Given the description of an element on the screen output the (x, y) to click on. 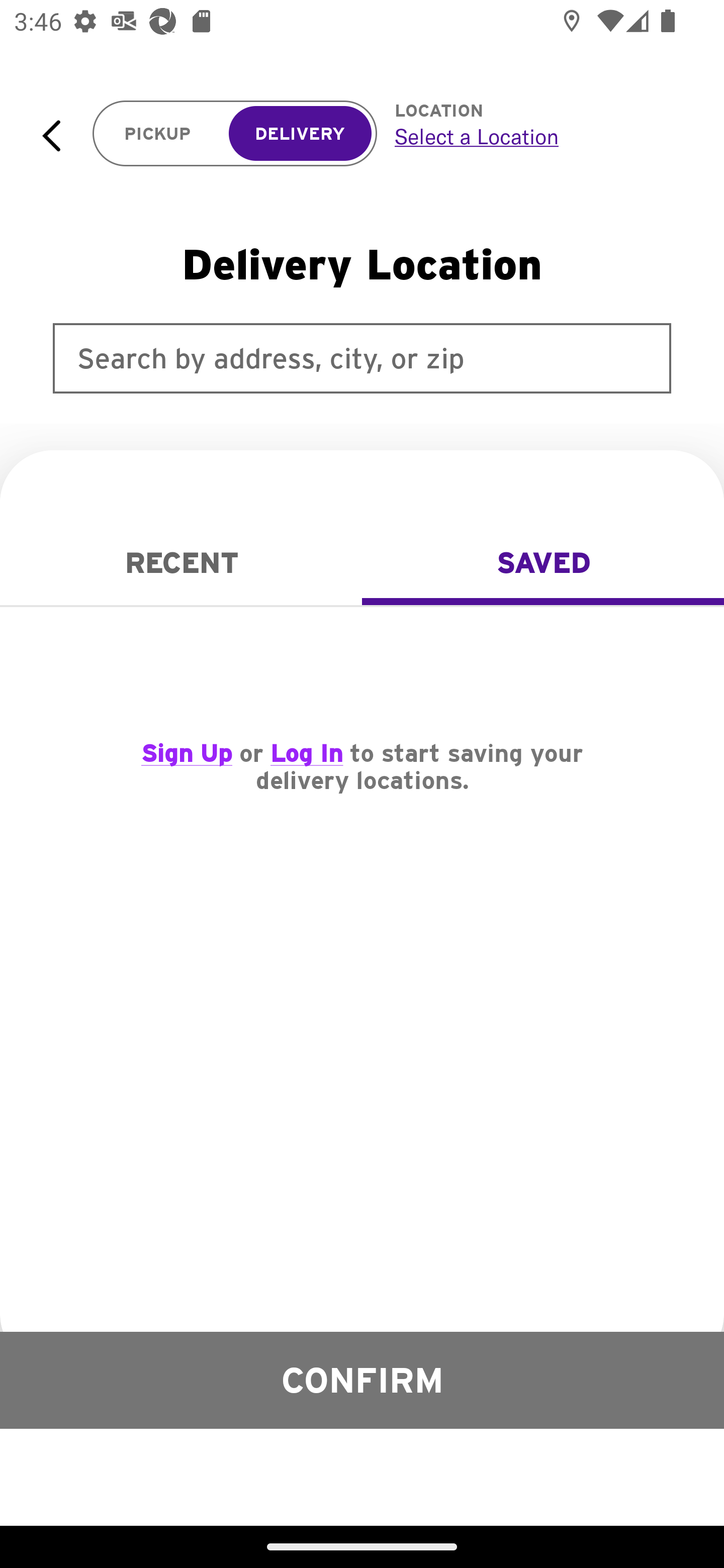
PICKUP (157, 133)
DELIVERY (299, 133)
Select a Location (536, 136)
Search by address, city, or zip (361, 358)
Recent RECENT (181, 562)
CONFIRM (362, 1379)
